Given the description of an element on the screen output the (x, y) to click on. 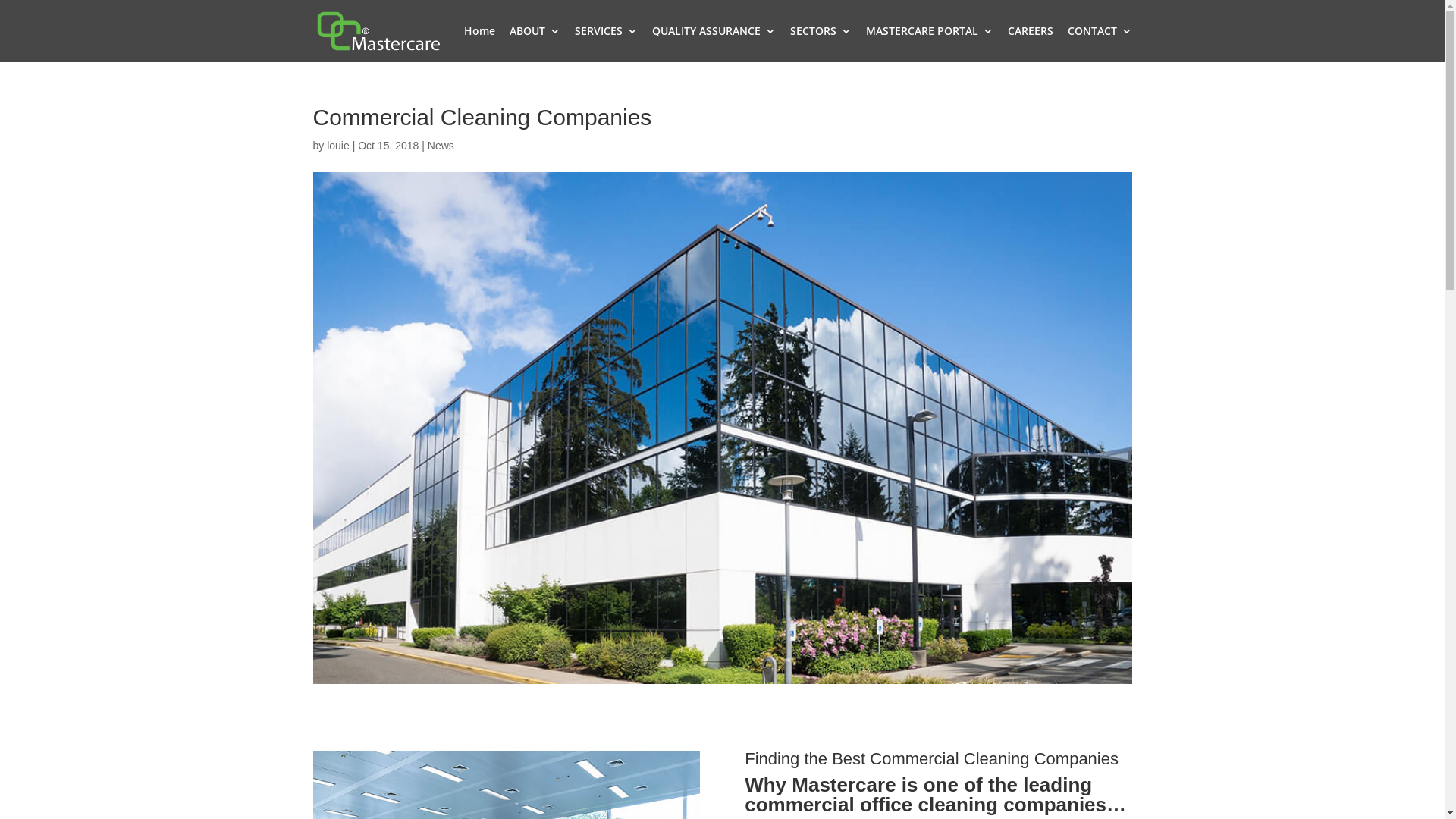
CAREERS Element type: text (1029, 43)
SECTORS Element type: text (820, 43)
louie Element type: text (337, 145)
QUALITY ASSURANCE Element type: text (713, 43)
ABOUT Element type: text (534, 43)
CONTACT Element type: text (1099, 43)
SERVICES Element type: text (605, 43)
MASTERCARE PORTAL Element type: text (929, 43)
Home Element type: text (479, 43)
News Element type: text (440, 145)
